Given the description of an element on the screen output the (x, y) to click on. 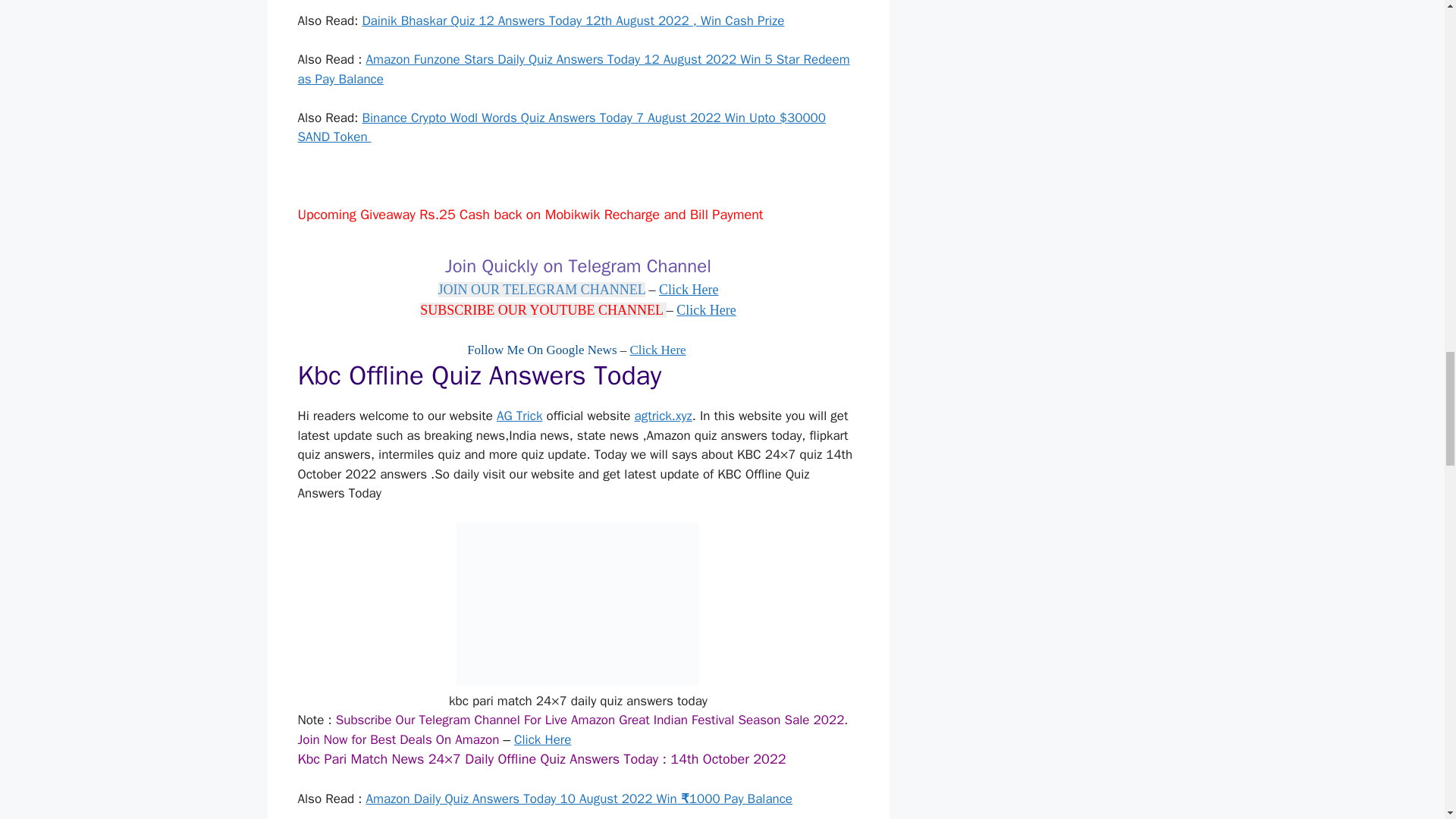
kbc daily quiz answers today 14 October 2022 (577, 603)
